Given the description of an element on the screen output the (x, y) to click on. 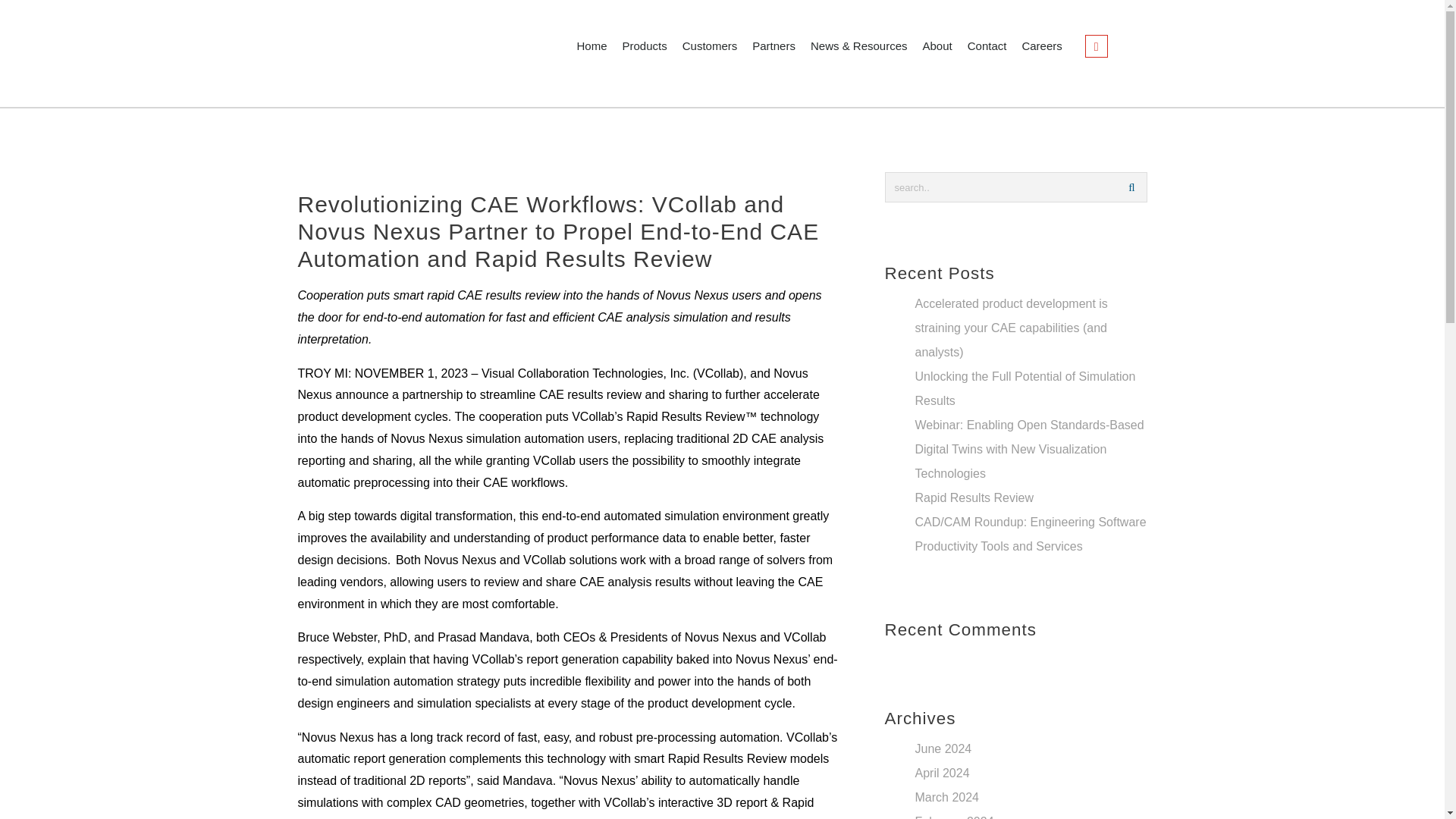
Partners (773, 46)
Customers (710, 46)
Rapid Results Review (973, 497)
April 2024 (941, 772)
June 2024 (942, 748)
About (936, 46)
February 2024 (953, 816)
Products (644, 46)
Search (1131, 186)
Home (591, 46)
Search (1131, 186)
Unlocking the Full Potential of Simulation Results (1024, 388)
Careers (1040, 46)
Contact (986, 46)
